Given the description of an element on the screen output the (x, y) to click on. 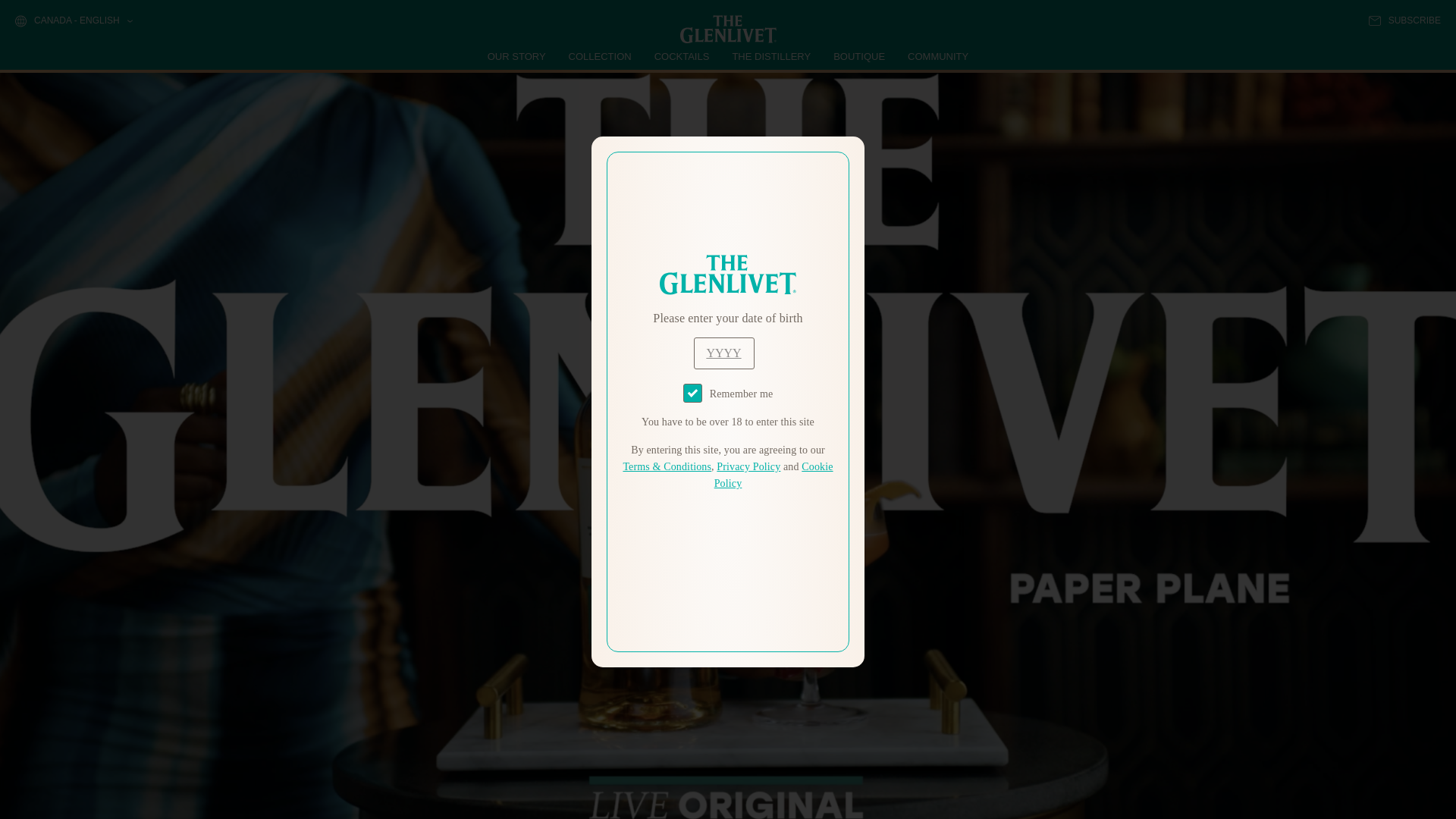
SUBSCRIBE (1404, 20)
year (723, 353)
COMMUNITY (937, 56)
Privacy Policy (748, 466)
CANADA - ENGLISH (73, 21)
BOUTIQUE (858, 56)
THE DISTILLERY (771, 56)
COCKTAILS (681, 56)
Cookie Policy (773, 474)
COLLECTION (600, 56)
OUR STORY (516, 56)
